Given the description of an element on the screen output the (x, y) to click on. 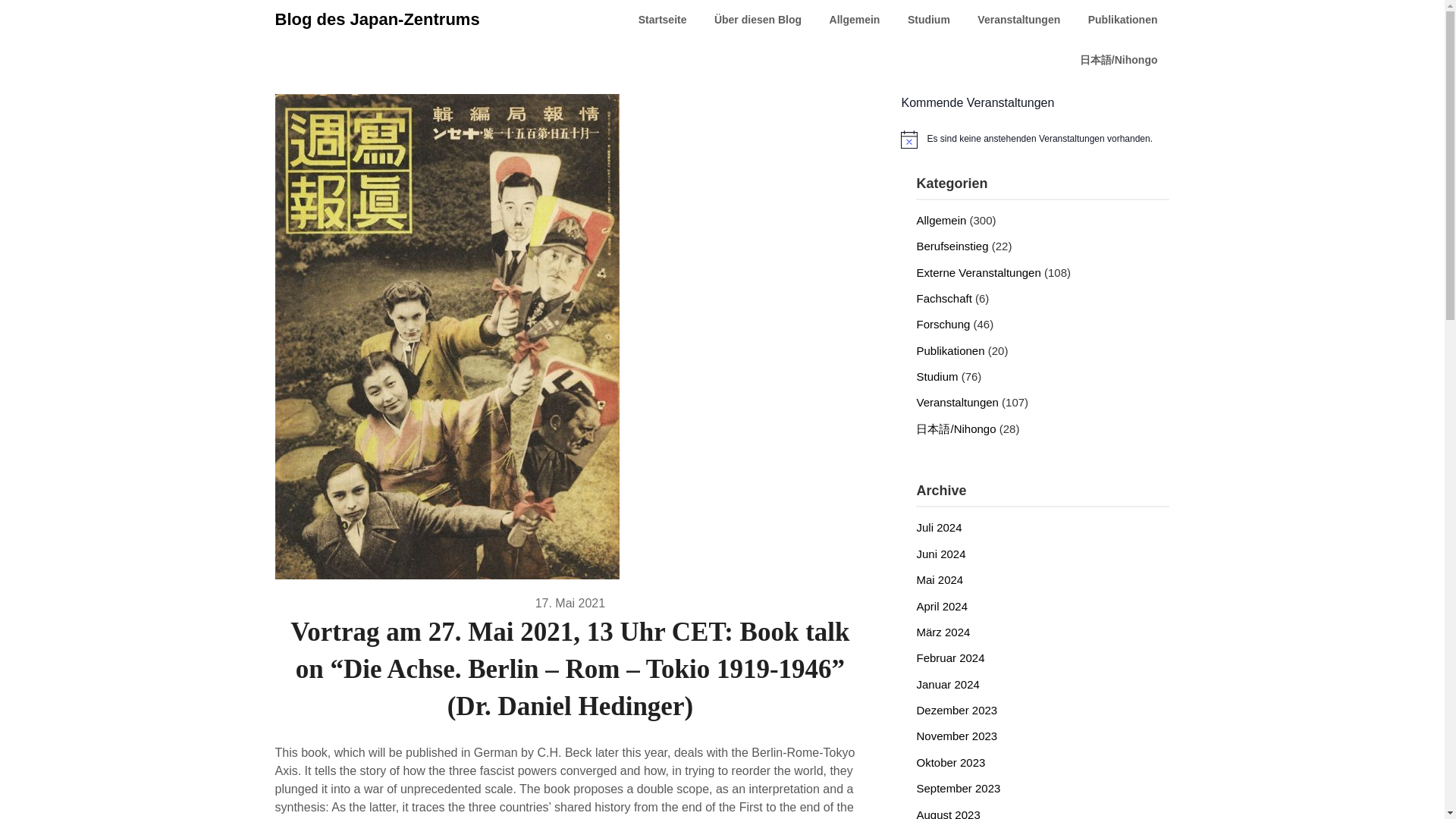
Allgemein (854, 20)
Publikationen (1122, 20)
Berufseinstieg (951, 245)
Fachschaft (943, 297)
Blog des Japan-Zentrums (377, 19)
Forschung (942, 323)
17. Mai 2021 (570, 602)
Studium (928, 20)
Allgemein (940, 219)
August 2023 (947, 813)
